Given the description of an element on the screen output the (x, y) to click on. 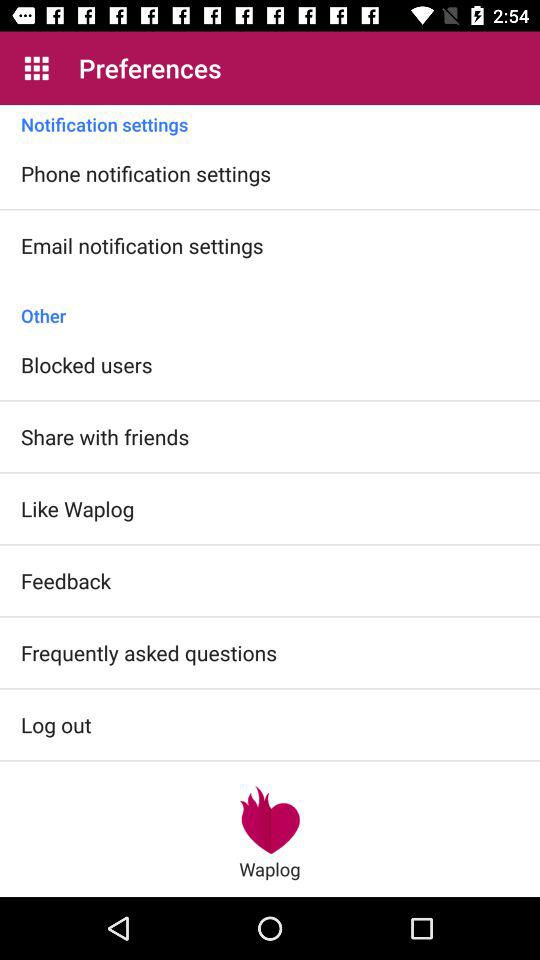
press icon below the feedback icon (149, 652)
